Given the description of an element on the screen output the (x, y) to click on. 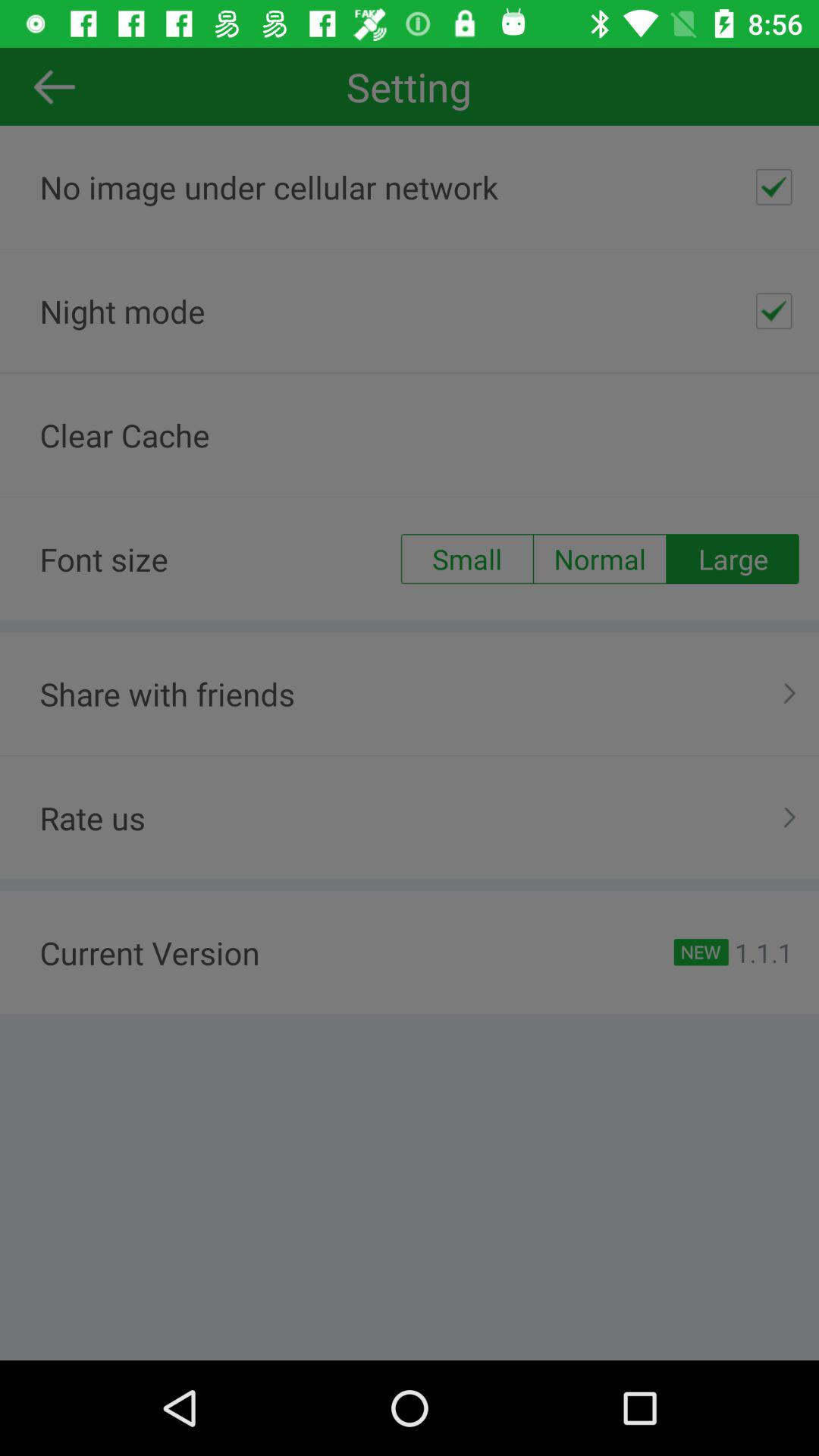
jump to the normal radio button (600, 559)
